Given the description of an element on the screen output the (x, y) to click on. 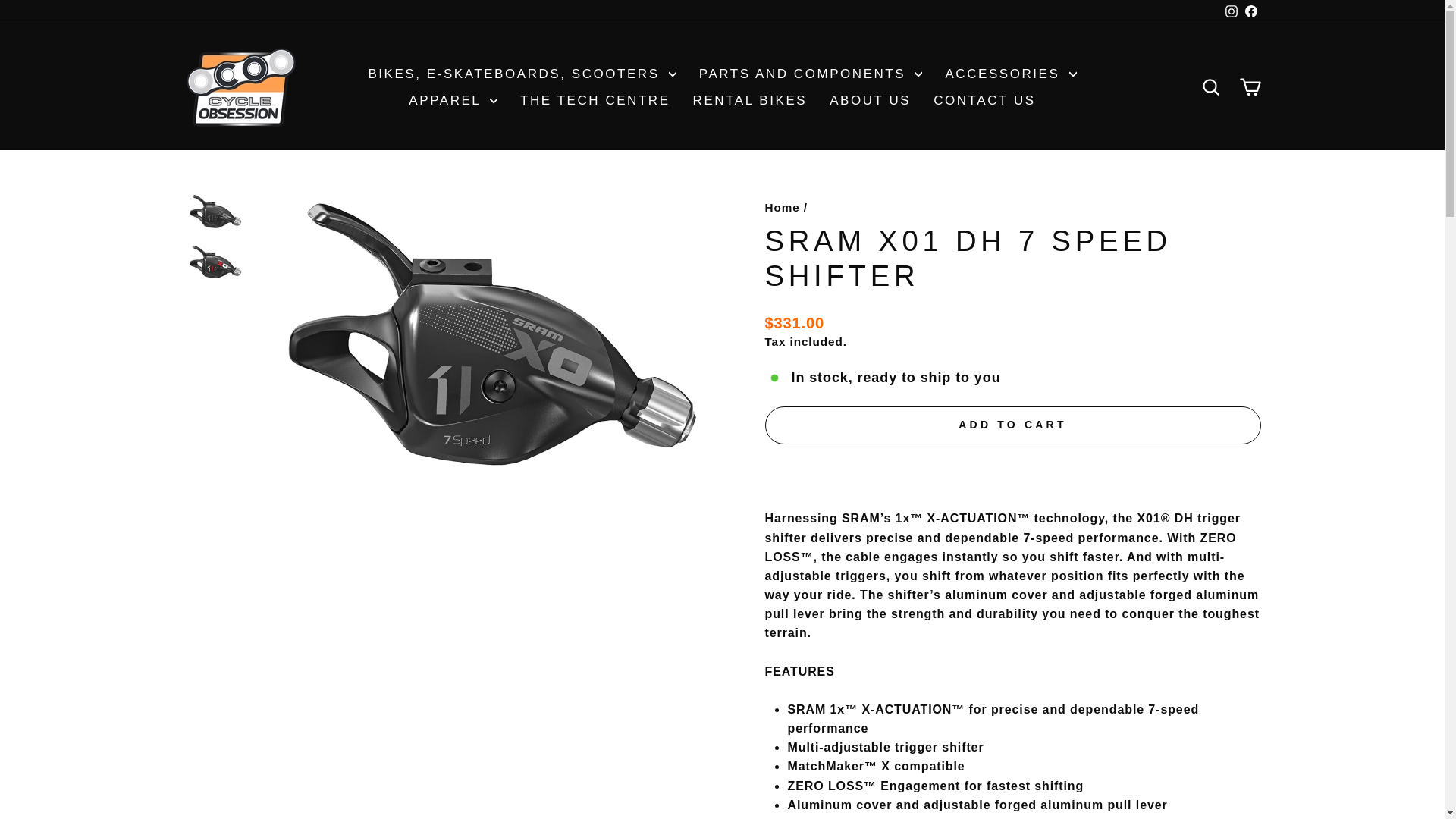
Back to the frontpage (781, 206)
instagram (1231, 10)
ICON-SEARCH (1210, 86)
